Given the description of an element on the screen output the (x, y) to click on. 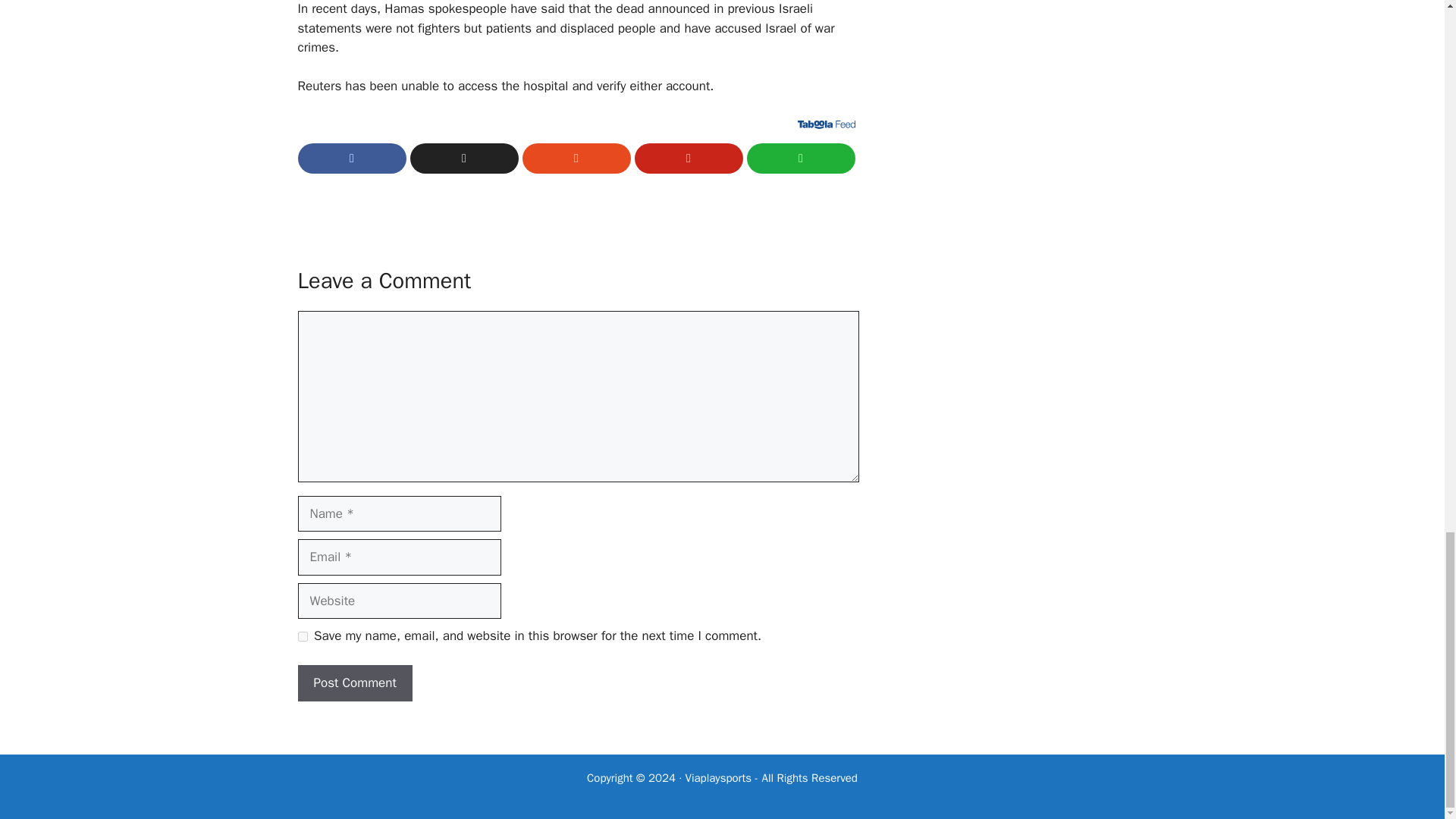
yes (302, 636)
Post Comment (354, 683)
Scroll back to top (1406, 1)
Viaplaysports (718, 777)
Post Comment (354, 683)
